Given the description of an element on the screen output the (x, y) to click on. 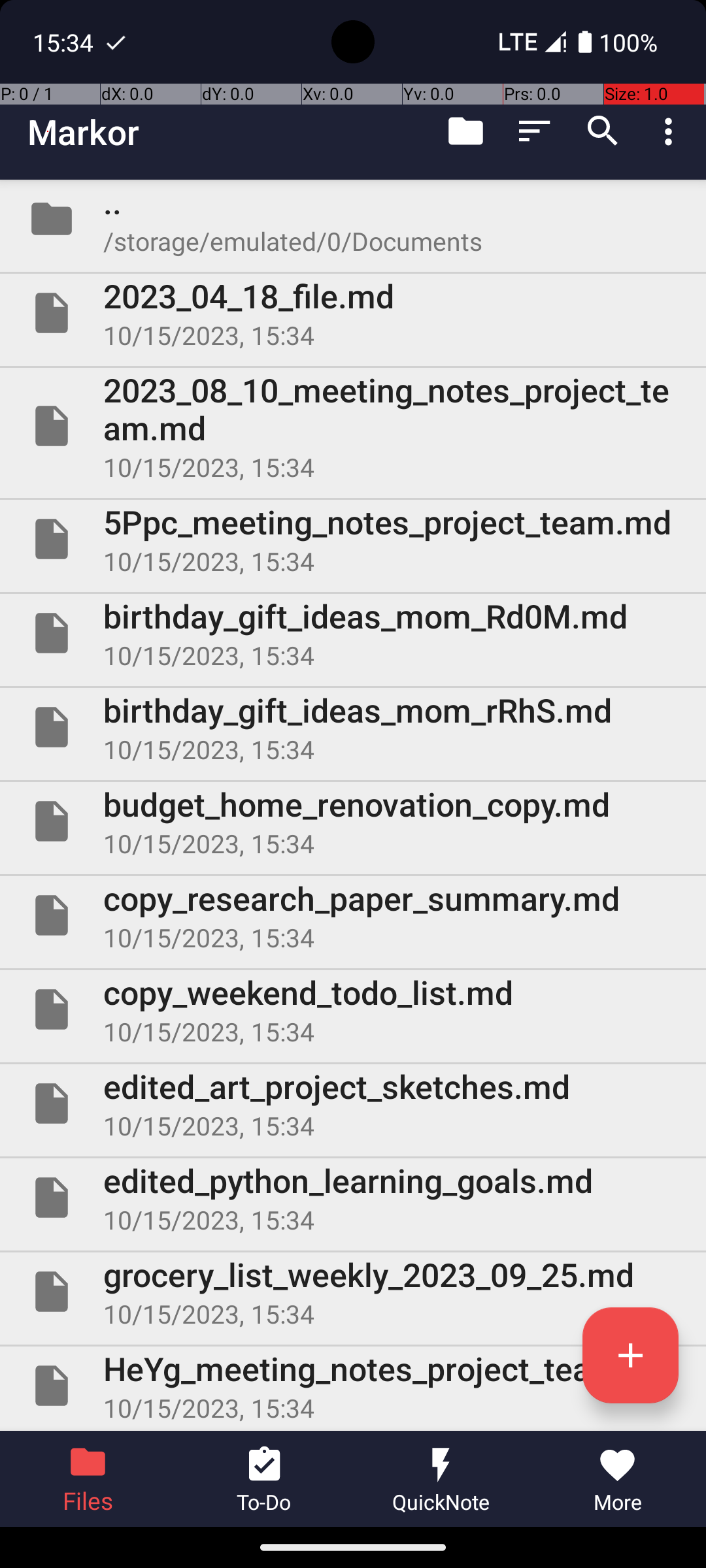
File 2023_04_18_file.md  Element type: android.widget.LinearLayout (353, 312)
File 2023_08_10_meeting_notes_project_team.md  Element type: android.widget.LinearLayout (353, 425)
File 5Ppc_meeting_notes_project_team.md  Element type: android.widget.LinearLayout (353, 538)
File birthday_gift_ideas_mom_Rd0M.md  Element type: android.widget.LinearLayout (353, 632)
File birthday_gift_ideas_mom_rRhS.md  Element type: android.widget.LinearLayout (353, 726)
File budget_home_renovation_copy.md  Element type: android.widget.LinearLayout (353, 821)
File copy_research_paper_summary.md  Element type: android.widget.LinearLayout (353, 915)
File copy_weekend_todo_list.md  Element type: android.widget.LinearLayout (353, 1009)
File edited_art_project_sketches.md  Element type: android.widget.LinearLayout (353, 1103)
File edited_python_learning_goals.md  Element type: android.widget.LinearLayout (353, 1197)
File grocery_list_weekly_2023_09_25.md  Element type: android.widget.LinearLayout (353, 1291)
File HeYg_meeting_notes_project_team.md  Element type: android.widget.LinearLayout (353, 1385)
